Given the description of an element on the screen output the (x, y) to click on. 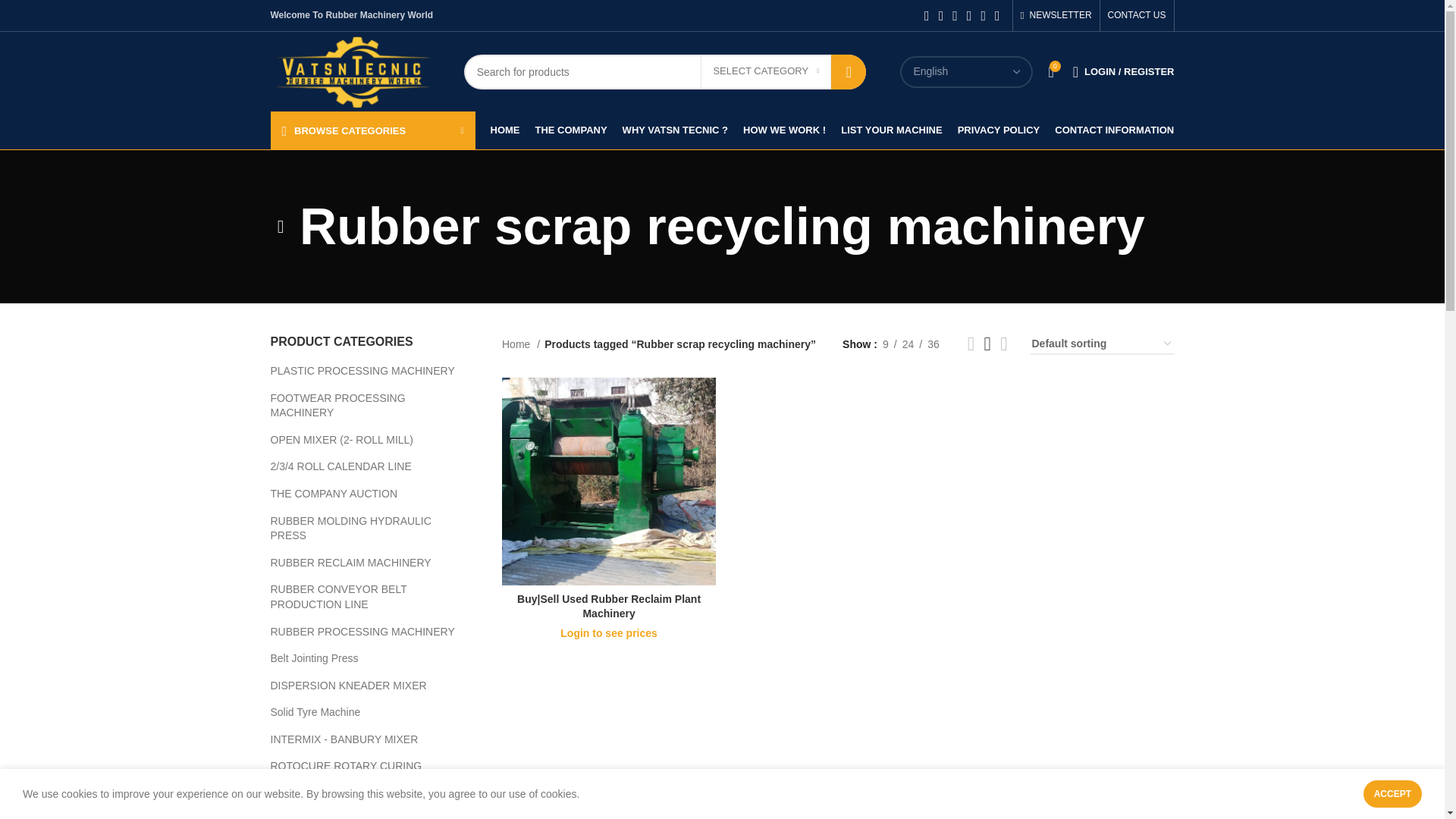
Search for products (665, 71)
CONTACT US (1137, 15)
SELECT CATEGORY (765, 71)
NEWSLETTER (1056, 15)
SELECT CATEGORY (765, 71)
My account (1123, 71)
